Given the description of an element on the screen output the (x, y) to click on. 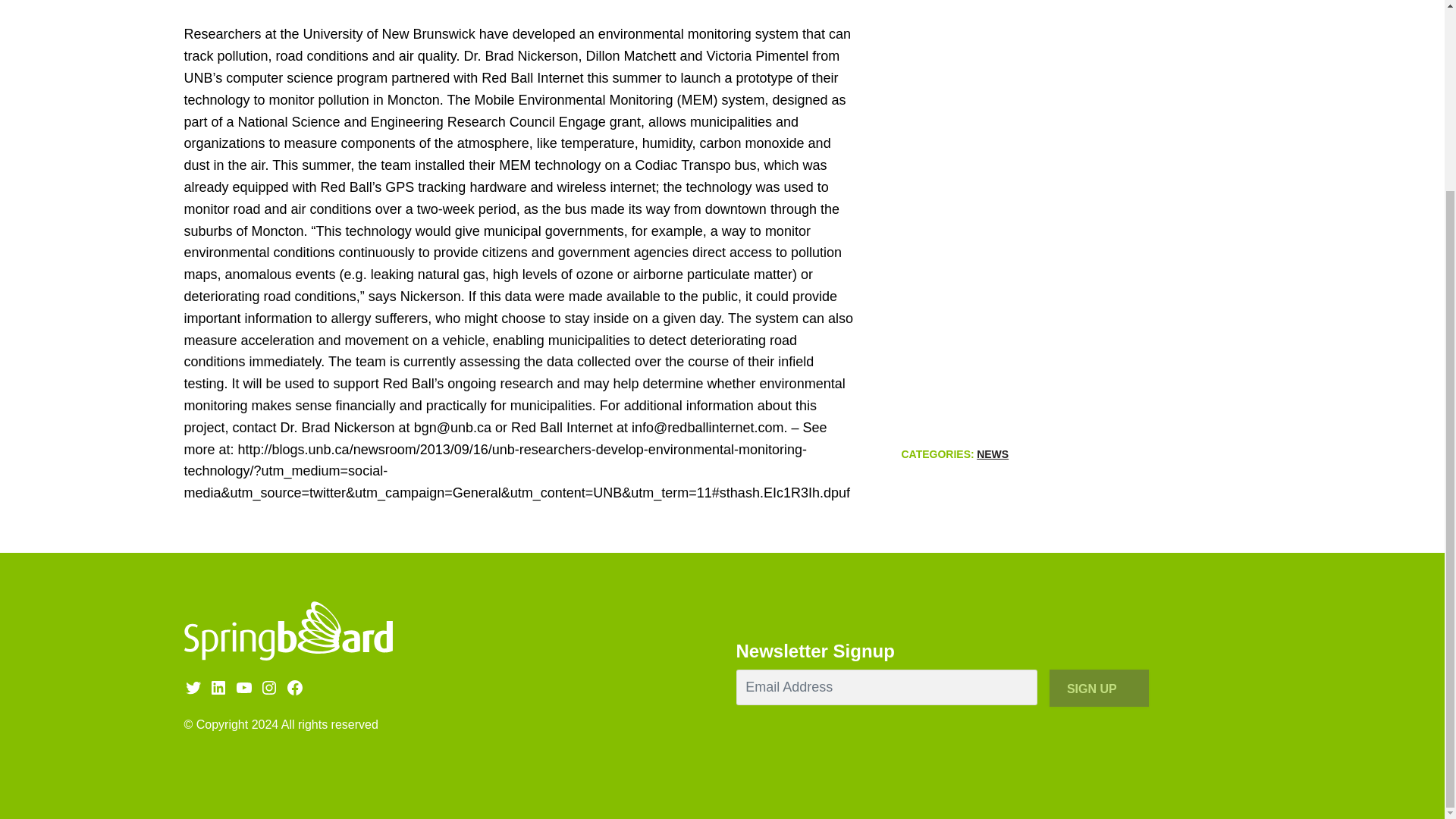
LinkedIn (218, 687)
NEWS (992, 454)
Instagram (269, 687)
Sign Up (1099, 687)
YouTube (243, 687)
Facebook (294, 687)
Twitter (192, 687)
Sign Up (1099, 687)
